Given the description of an element on the screen output the (x, y) to click on. 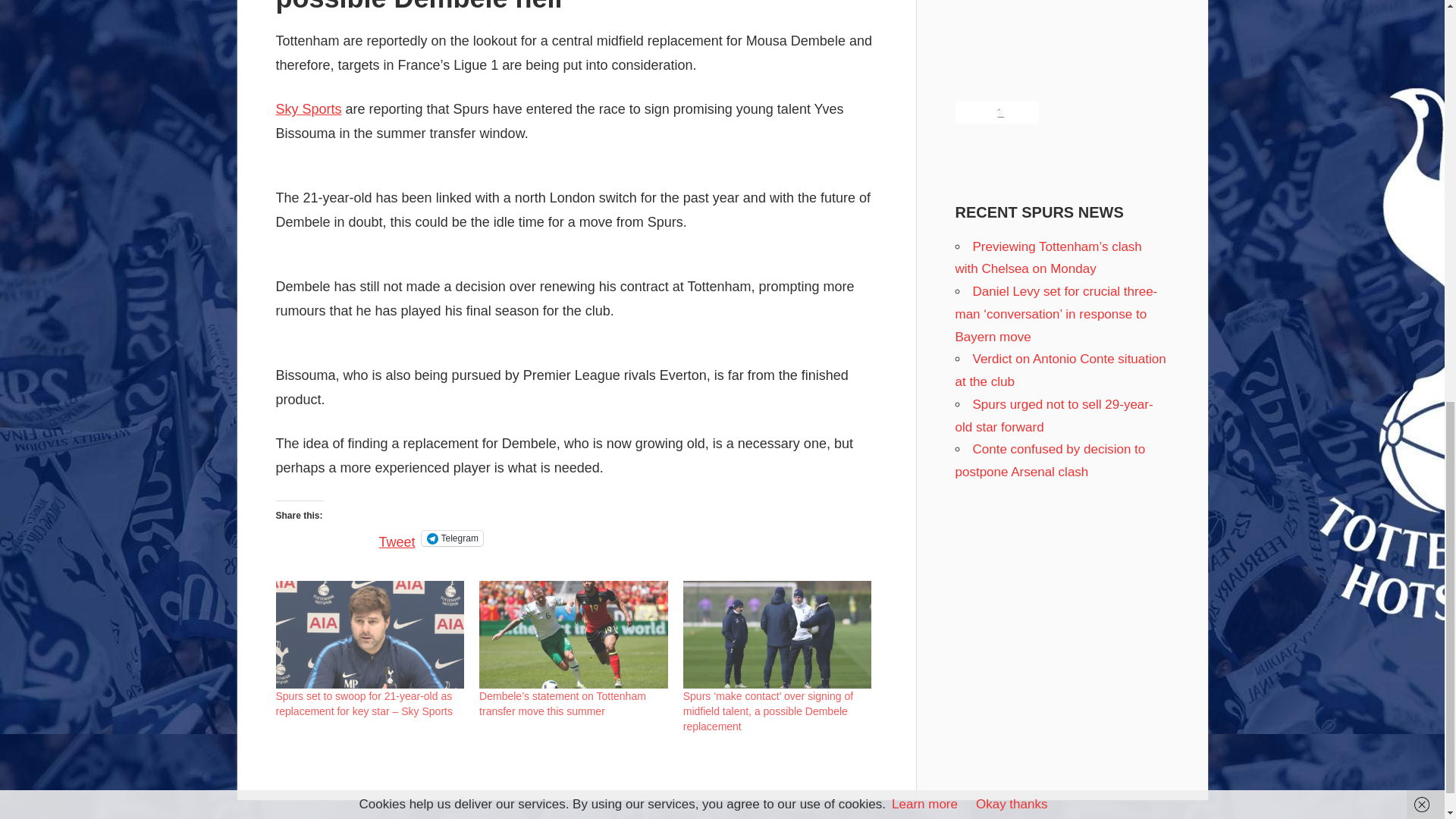
Sky Sports (309, 109)
READ  (300, 774)
Spurs urged not to sell 29-year-old star forward (1054, 415)
Tweet (396, 537)
1 (997, 111)
Conte confused by decision to postpone Arsenal clash (1050, 460)
Telegram (452, 538)
Click to share on Telegram (452, 538)
Verdict on Antonio Conte situation at the club (1060, 370)
